Given the description of an element on the screen output the (x, y) to click on. 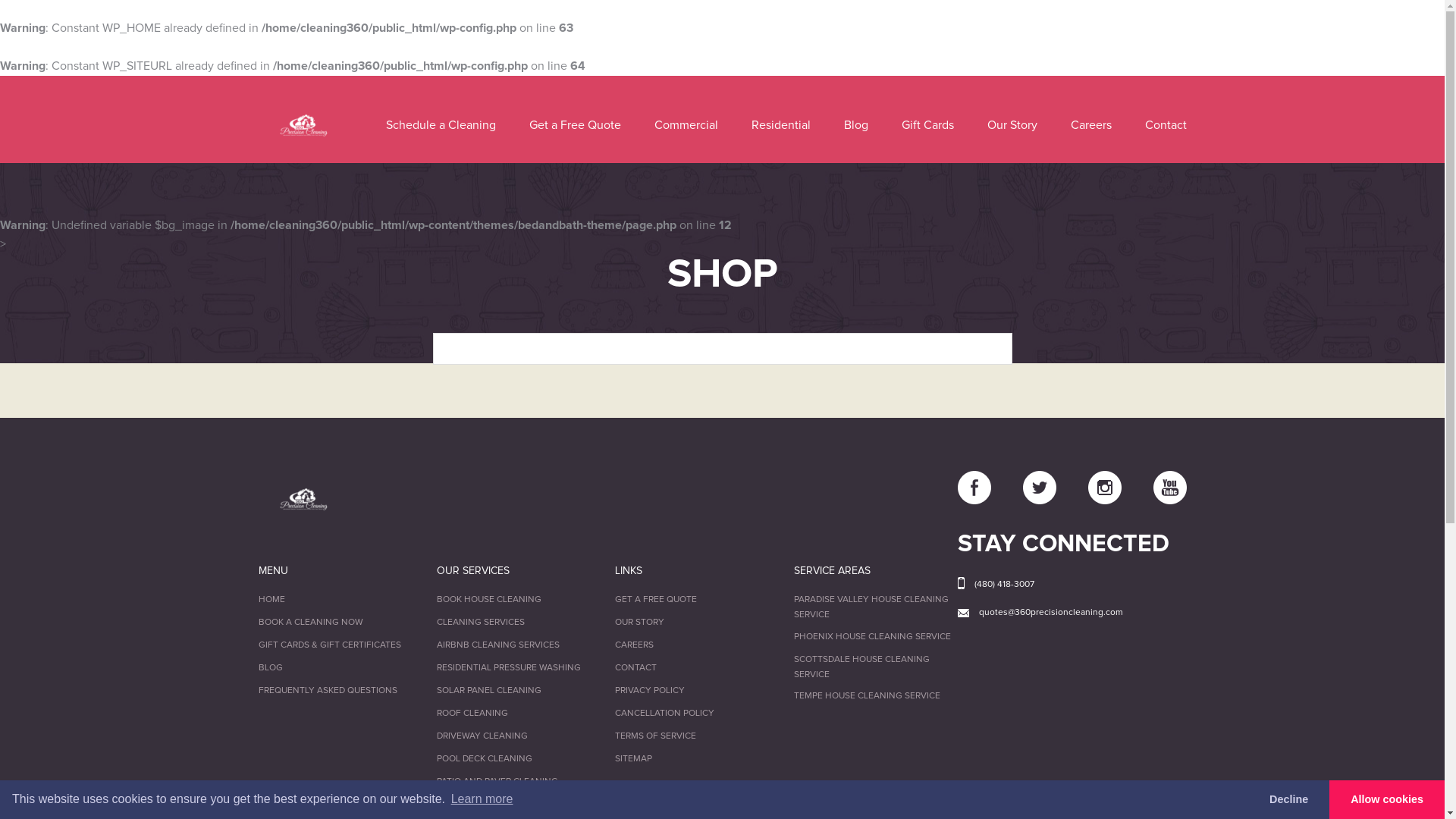
POOL DECK CLEANING Element type: text (484, 758)
FREQUENTLY ASKED QUESTIONS Element type: text (326, 690)
Commercial Element type: text (685, 125)
Contact Element type: text (1165, 125)
PRIVACY POLICY Element type: text (649, 690)
Get a Free Quote Element type: text (575, 125)
PATIO AND PAVER CLEANING Element type: text (497, 781)
Our Story Element type: text (1012, 125)
SITEMAP Element type: text (633, 758)
TERMS OF SERVICE Element type: text (655, 735)
Gift Cards Element type: text (926, 125)
CONTACT Element type: text (635, 667)
HOUSE WASHING Element type: text (473, 804)
Residential Element type: text (779, 125)
Schedule a Cleaning Element type: text (440, 125)
quotes@360precisioncleaning.com Element type: text (1082, 612)
CANCELLATION POLICY Element type: text (664, 713)
DRIVEWAY CLEANING Element type: text (481, 735)
OUR STORY Element type: text (639, 622)
ROOF CLEANING Element type: text (472, 713)
CAREERS Element type: text (634, 644)
BOOK HOUSE CLEANING Element type: text (488, 599)
RESIDENTIAL PRESSURE WASHING Element type: text (508, 667)
AIRBNB CLEANING SERVICES Element type: text (497, 644)
CLEANING SERVICES Element type: text (480, 622)
Blog Element type: text (855, 125)
Learn more Element type: text (481, 798)
SCOTTSDALE HOUSE CLEANING SERVICE Element type: text (861, 667)
BOOK A CLEANING NOW Element type: text (309, 622)
PHOENIX HOUSE CLEANING SERVICE Element type: text (871, 636)
TEMPE HOUSE CLEANING SERVICE Element type: text (866, 695)
Careers Element type: text (1090, 125)
PARADISE VALLEY HOUSE CLEANING SERVICE Element type: text (870, 607)
GET A FREE QUOTE Element type: text (655, 599)
GIFT CARDS & GIFT CERTIFICATES Element type: text (328, 644)
HOME Element type: text (270, 599)
BLOG Element type: text (269, 667)
SOLAR PANEL CLEANING Element type: text (488, 690)
